Given the description of an element on the screen output the (x, y) to click on. 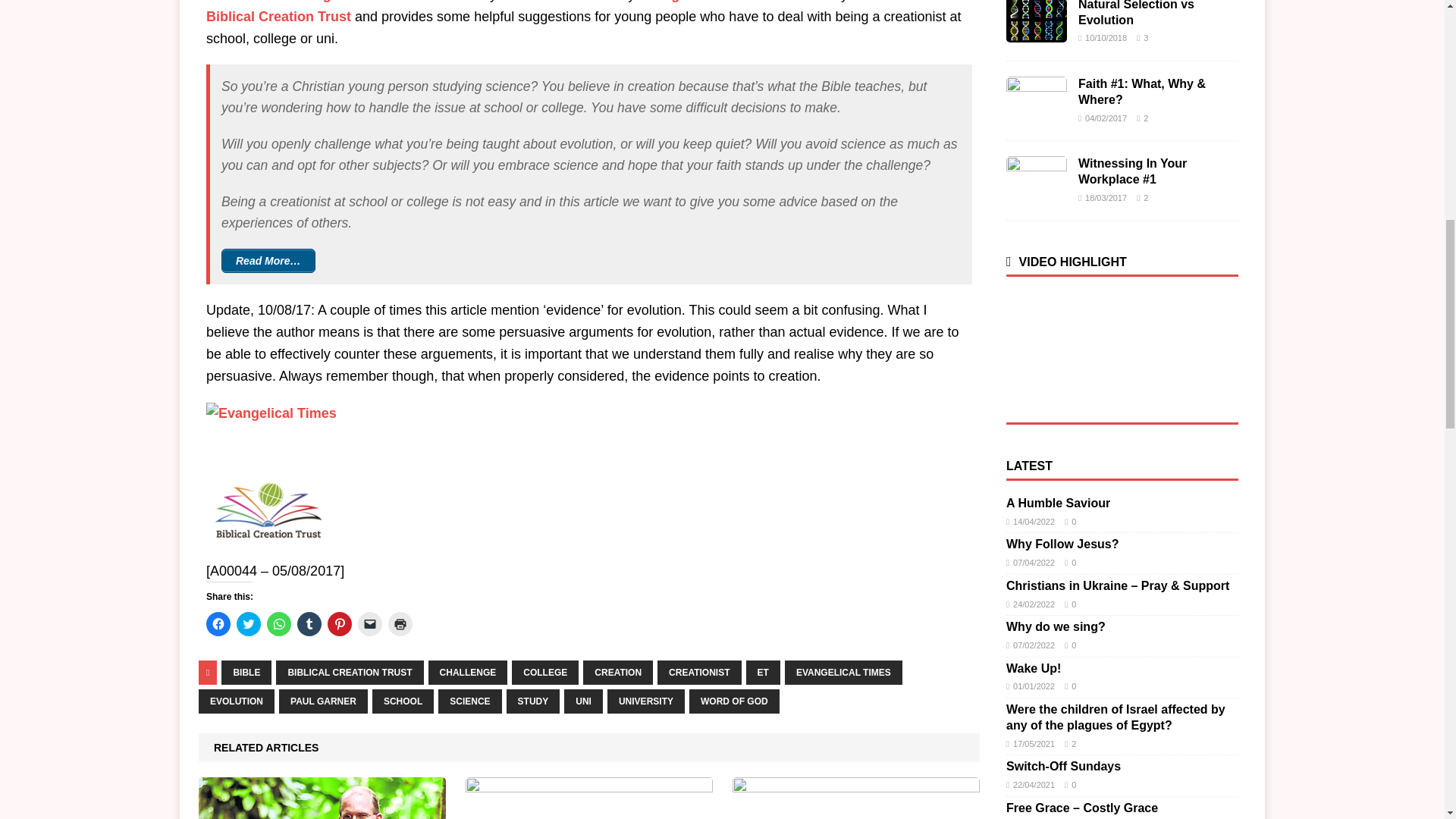
Click to share on Tumblr (309, 623)
Click to share on Pinterest (339, 623)
Click to share on WhatsApp (278, 623)
Click to share on Twitter (247, 623)
Click to share on Facebook (218, 623)
Click to email a link to a friend (369, 623)
Click to print (400, 623)
